Given the description of an element on the screen output the (x, y) to click on. 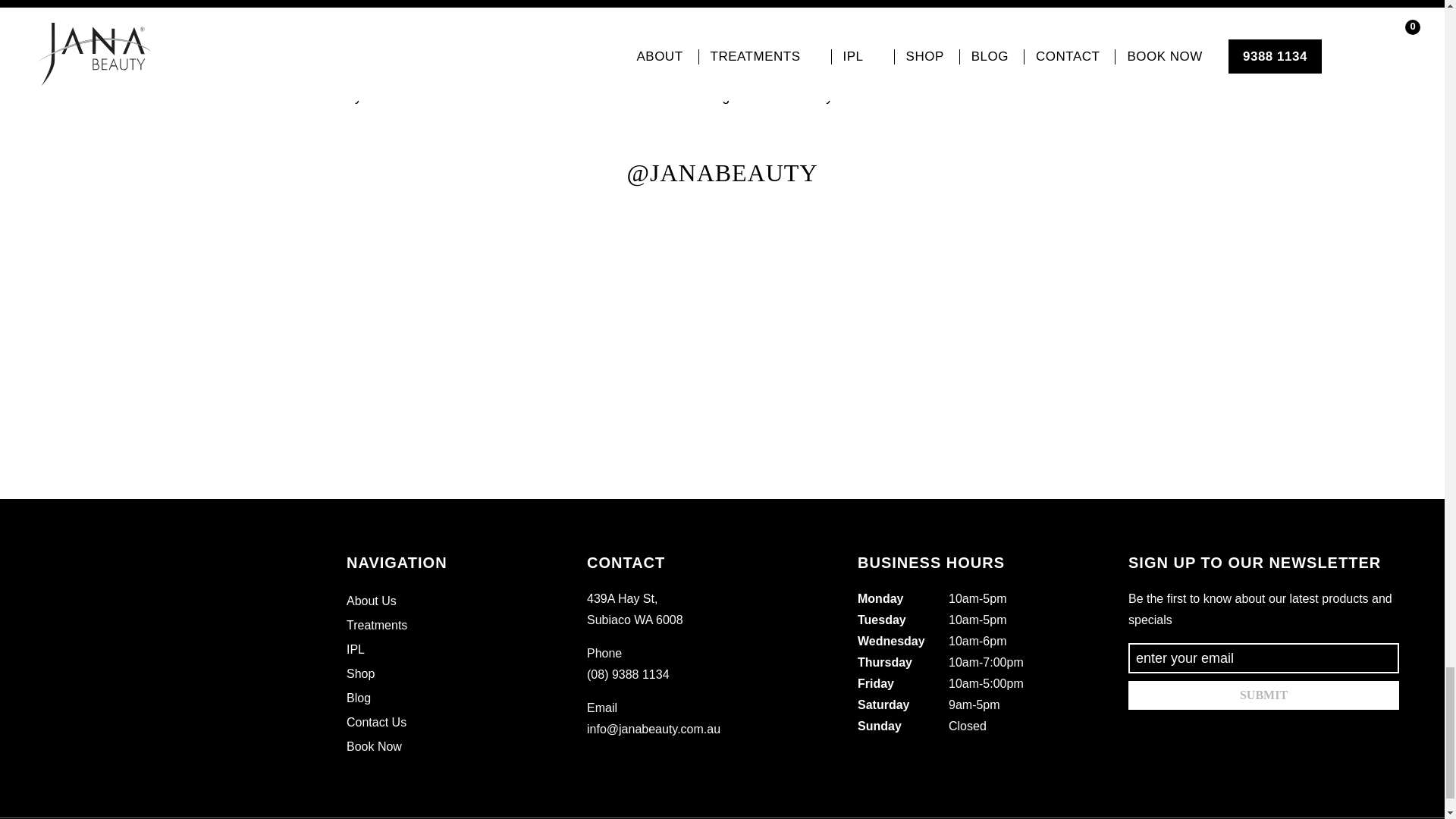
Treatments (376, 625)
Contact Us (376, 721)
Submit (1263, 695)
Submit (1263, 695)
Shop (360, 673)
About Us (371, 600)
IPL (355, 649)
Book Now (373, 746)
Blog (358, 697)
